Given the description of an element on the screen output the (x, y) to click on. 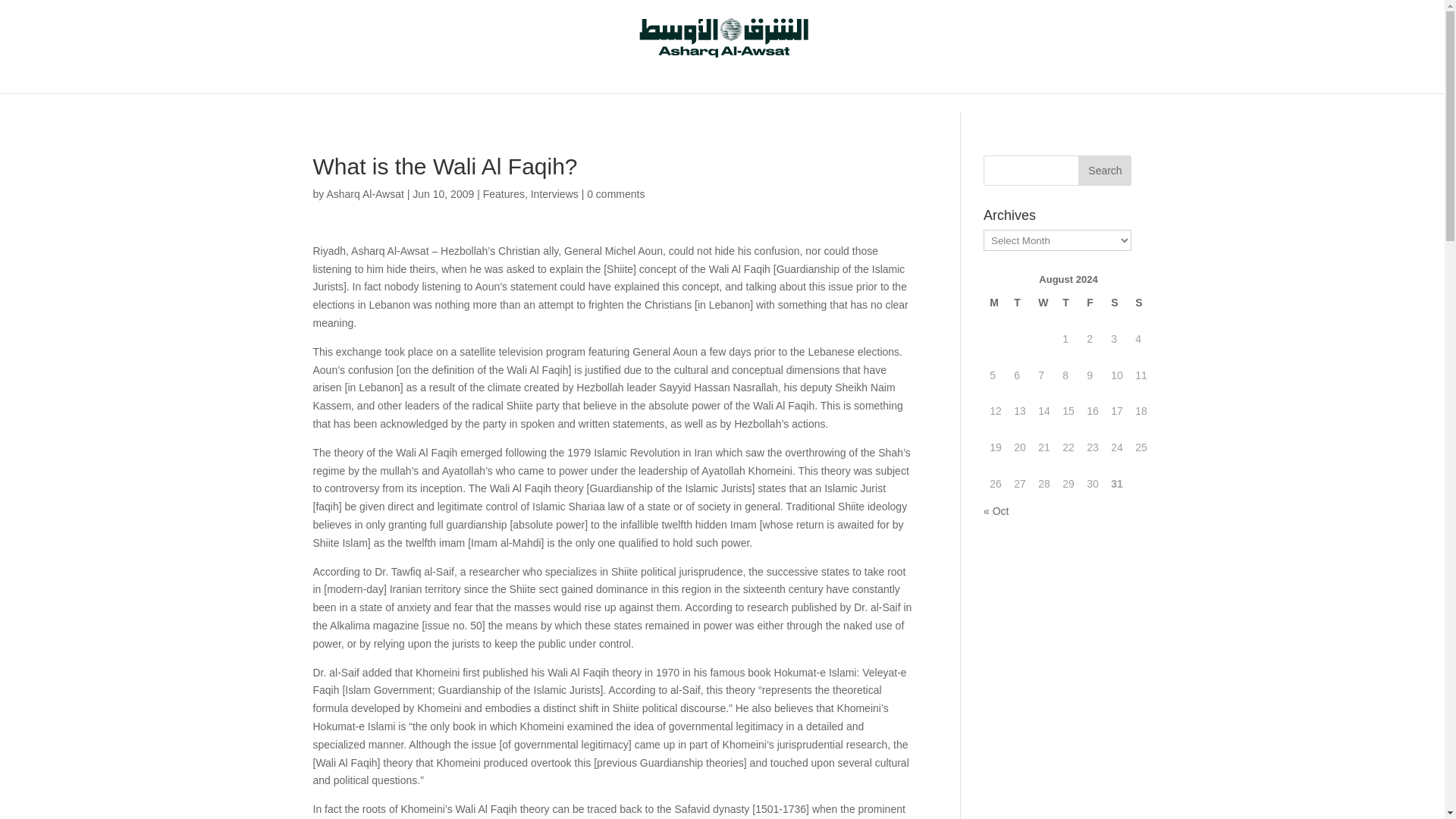
Search (1104, 170)
Features (503, 193)
0 comments (615, 193)
Posts by Asharq Al-Awsat (364, 193)
Interviews (554, 193)
Search (1104, 170)
Asharq Al-Awsat (364, 193)
